Given the description of an element on the screen output the (x, y) to click on. 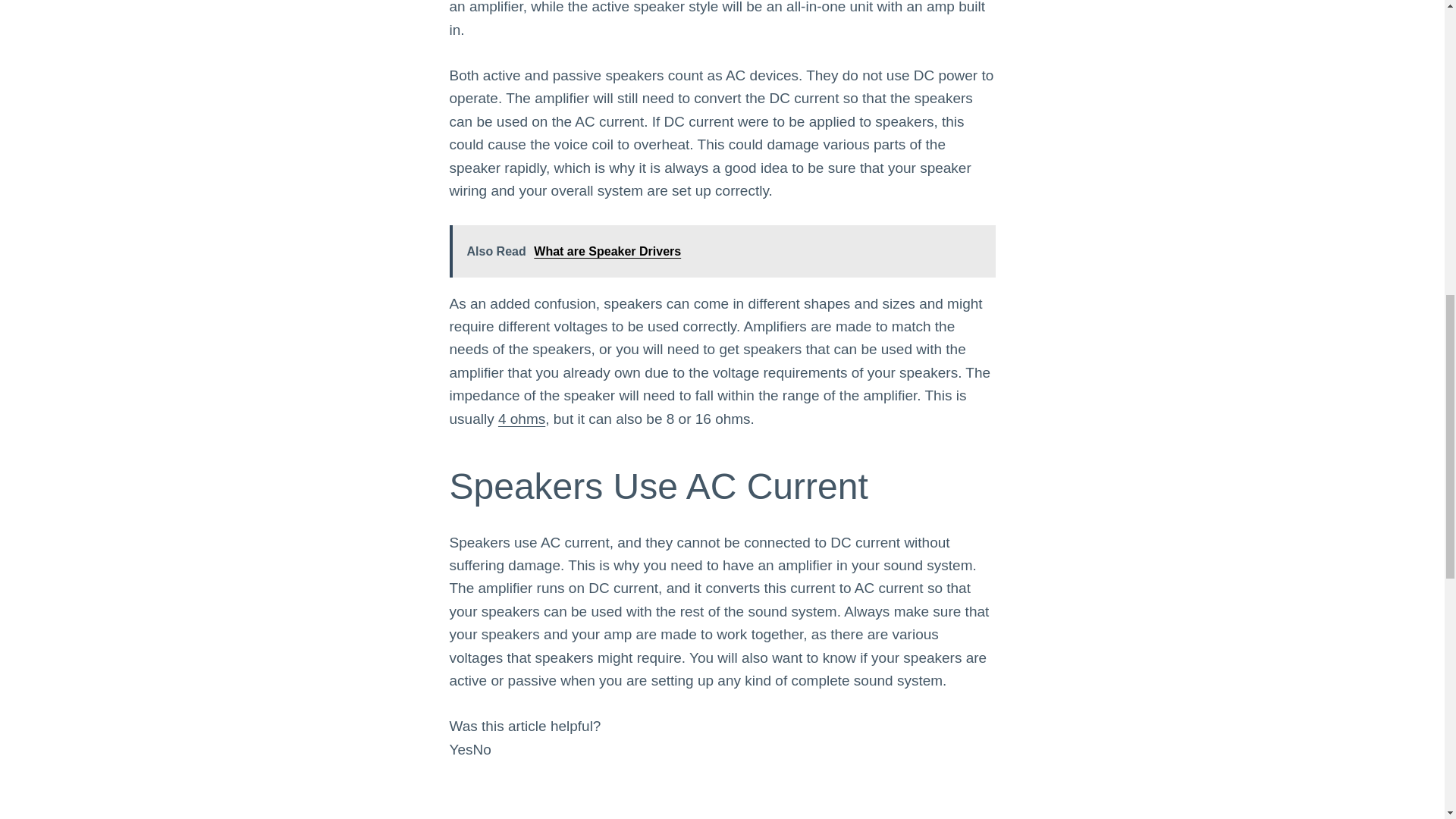
4 ohms (520, 418)
Also Read  What are Speaker Drivers (721, 250)
